Given the description of an element on the screen output the (x, y) to click on. 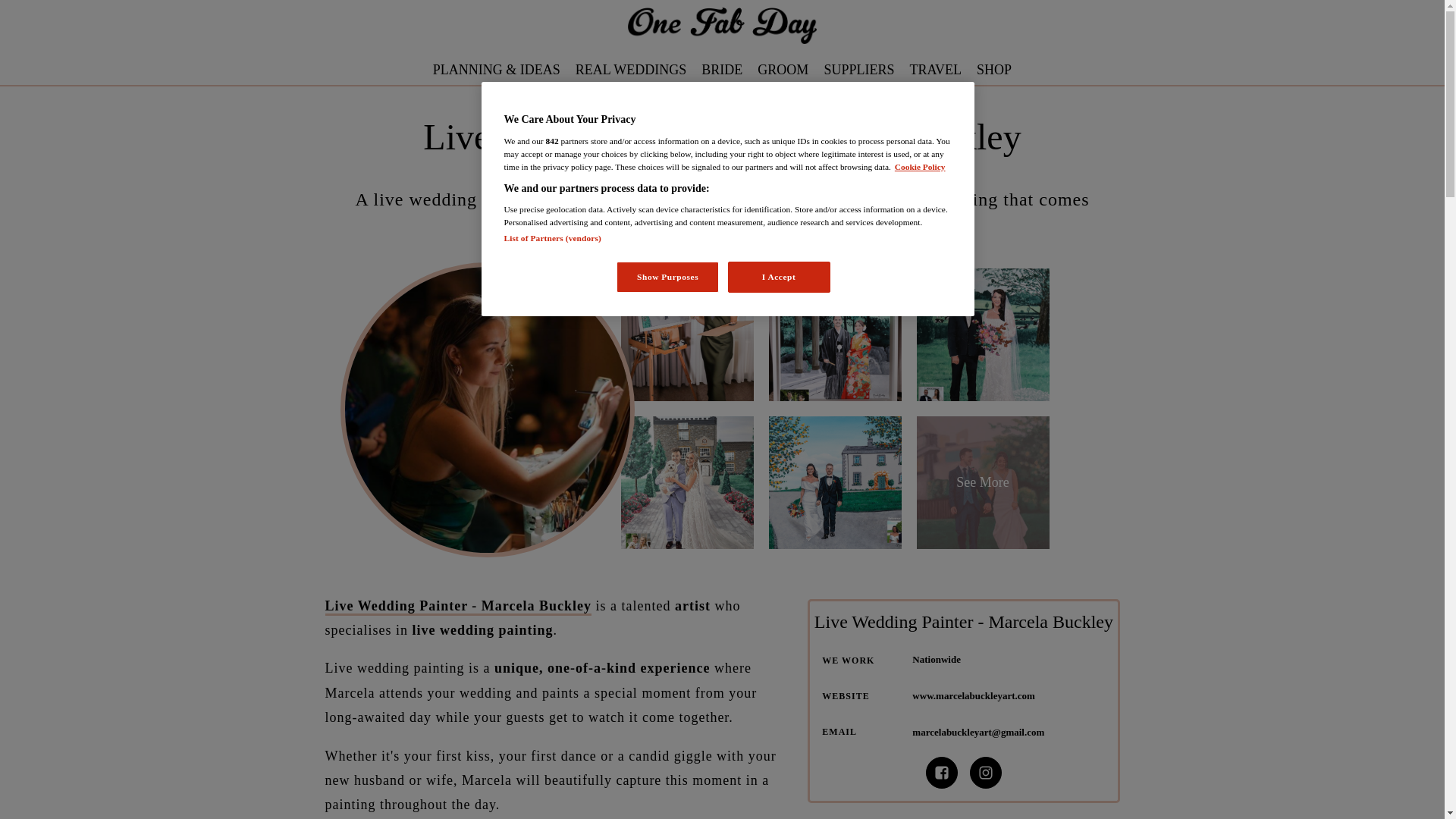
REAL WEDDINGS (630, 70)
